Given the description of an element on the screen output the (x, y) to click on. 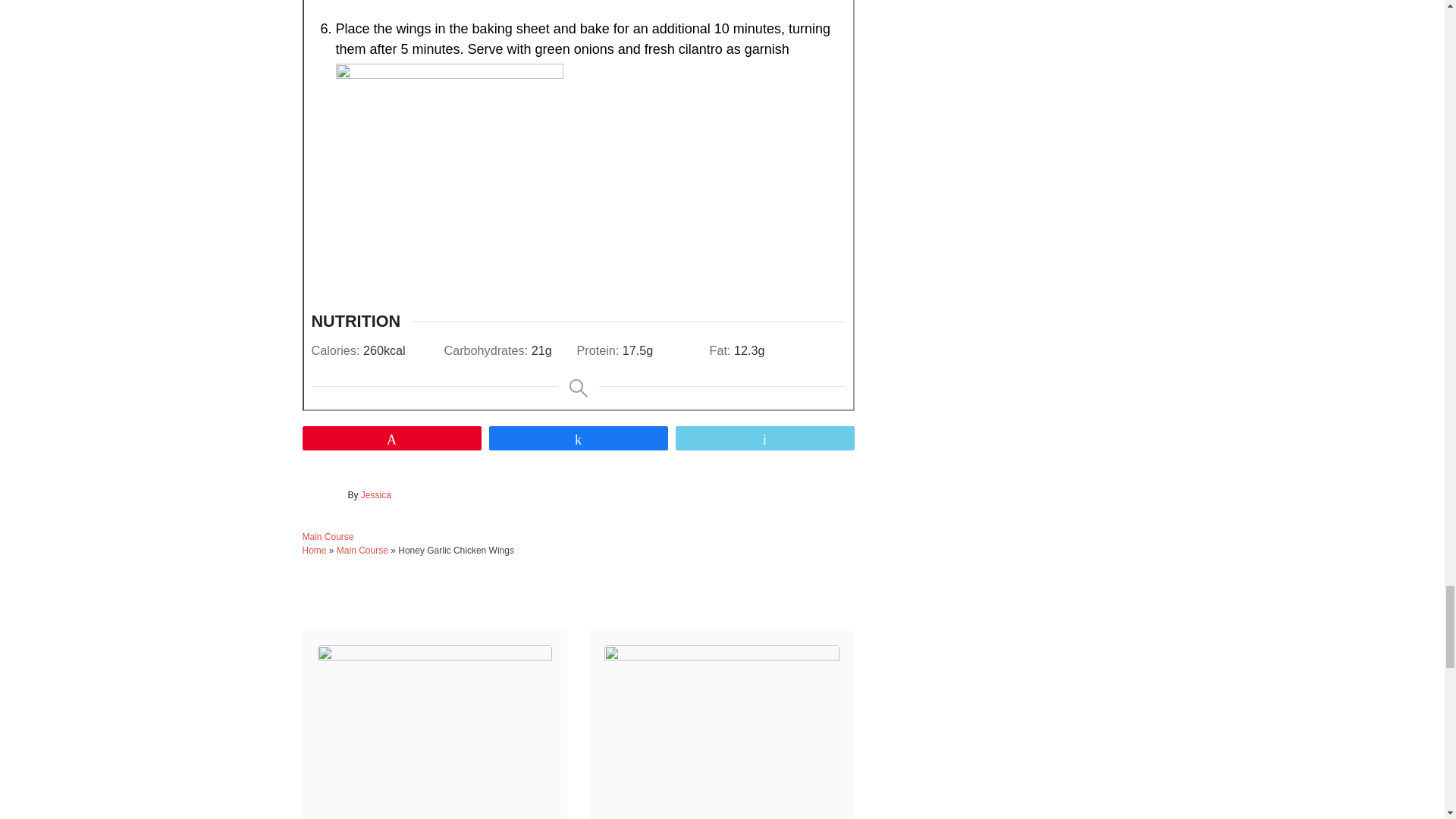
Jessica (376, 494)
Main Course (327, 536)
Main Course (362, 550)
Home (313, 550)
